Given the description of an element on the screen output the (x, y) to click on. 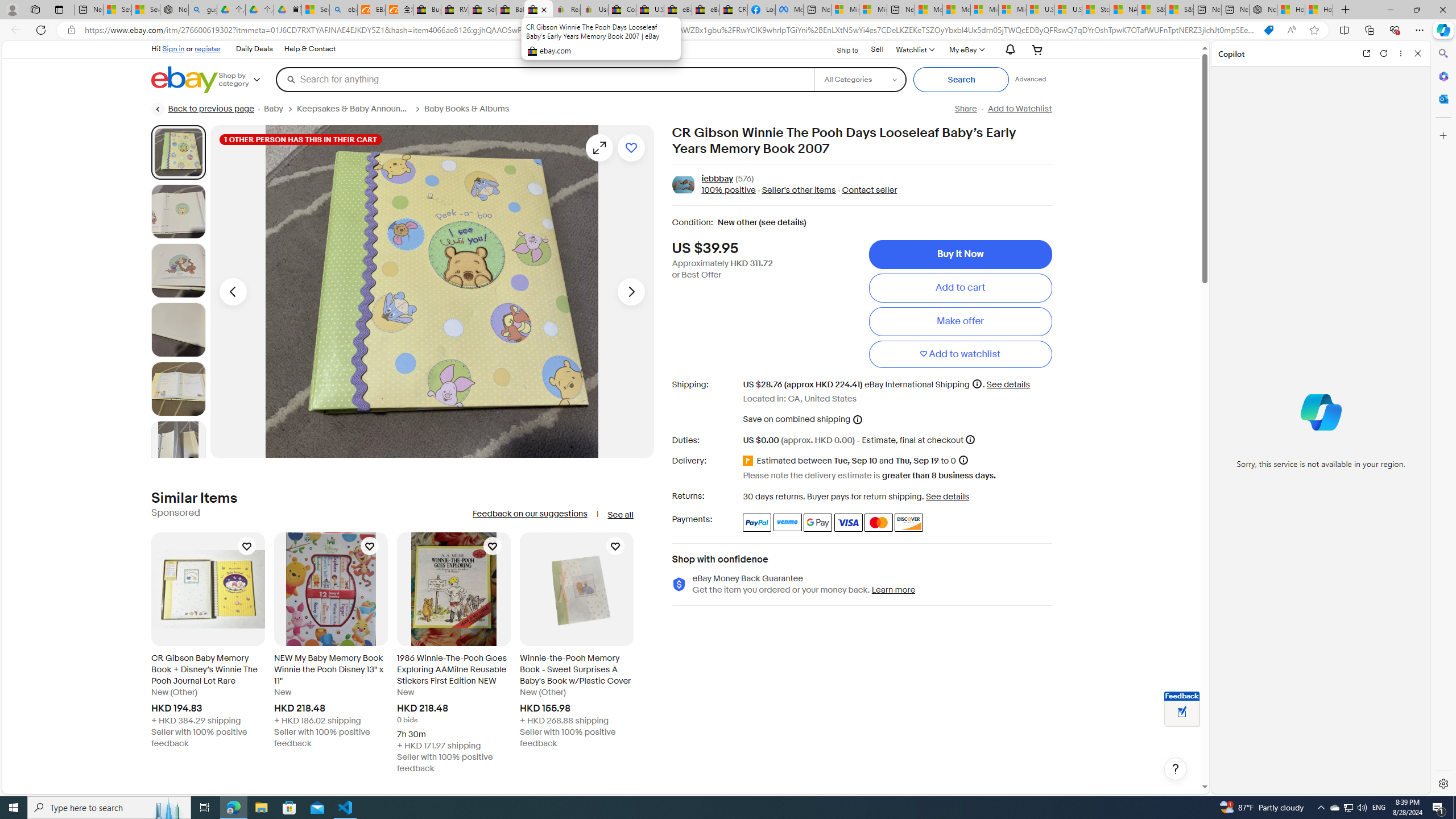
Add to Watchlist (1019, 108)
You have the best price! Shopping in Microsoft Edge (1268, 29)
Keepsakes & Baby Announcements (353, 108)
AutomationID: gh-eb-Alerts (1008, 49)
eBay Home (184, 79)
Share (964, 108)
Make offer (959, 320)
Meta Store (789, 9)
See details for shipping (1007, 383)
More information on Combined Shipping. Opens a layer. (857, 419)
Picture 3 of 22 (178, 270)
